Given the description of an element on the screen output the (x, y) to click on. 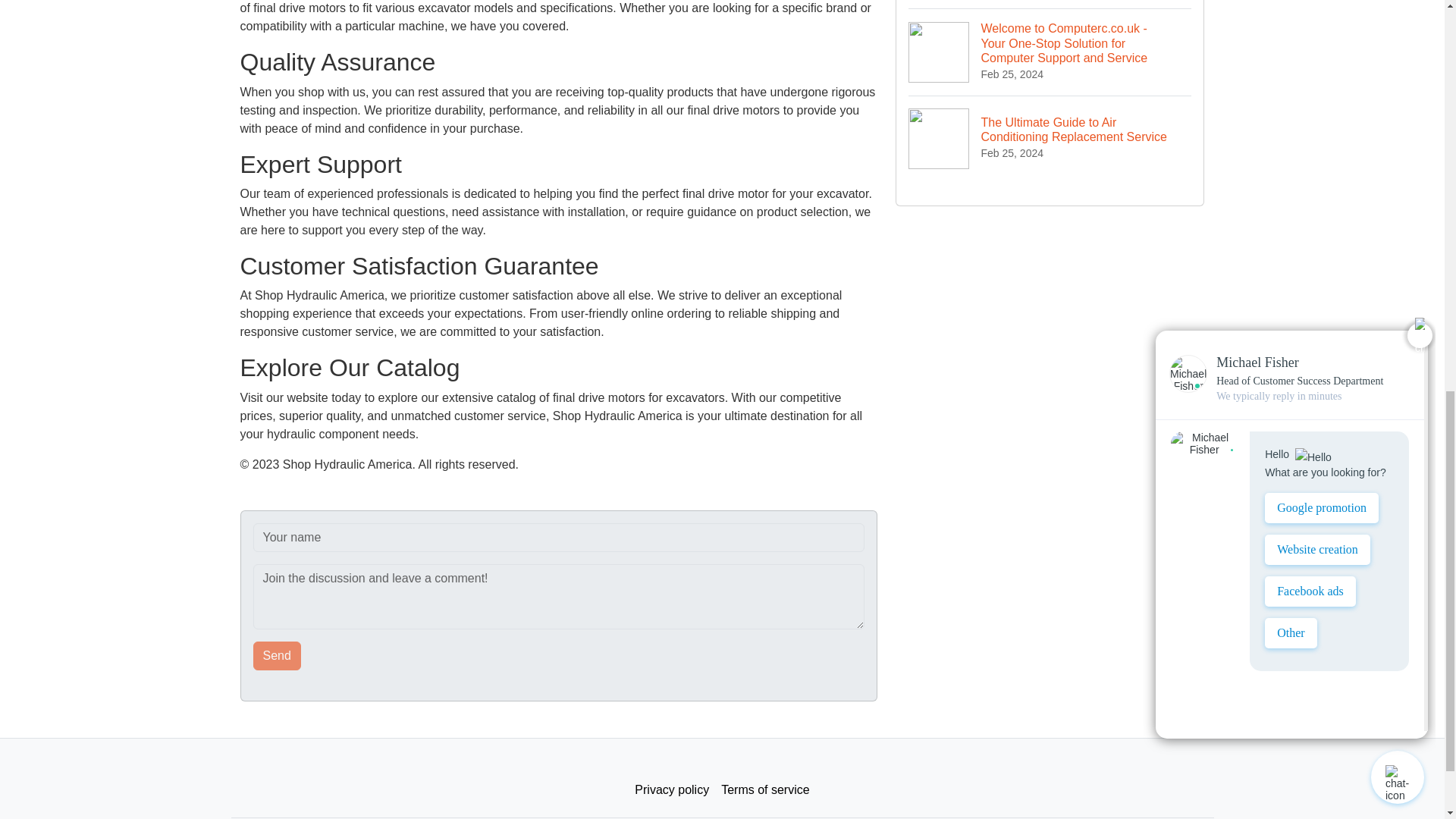
Terms of service (764, 789)
Send (277, 655)
Send (277, 655)
Privacy policy (671, 789)
